Given the description of an element on the screen output the (x, y) to click on. 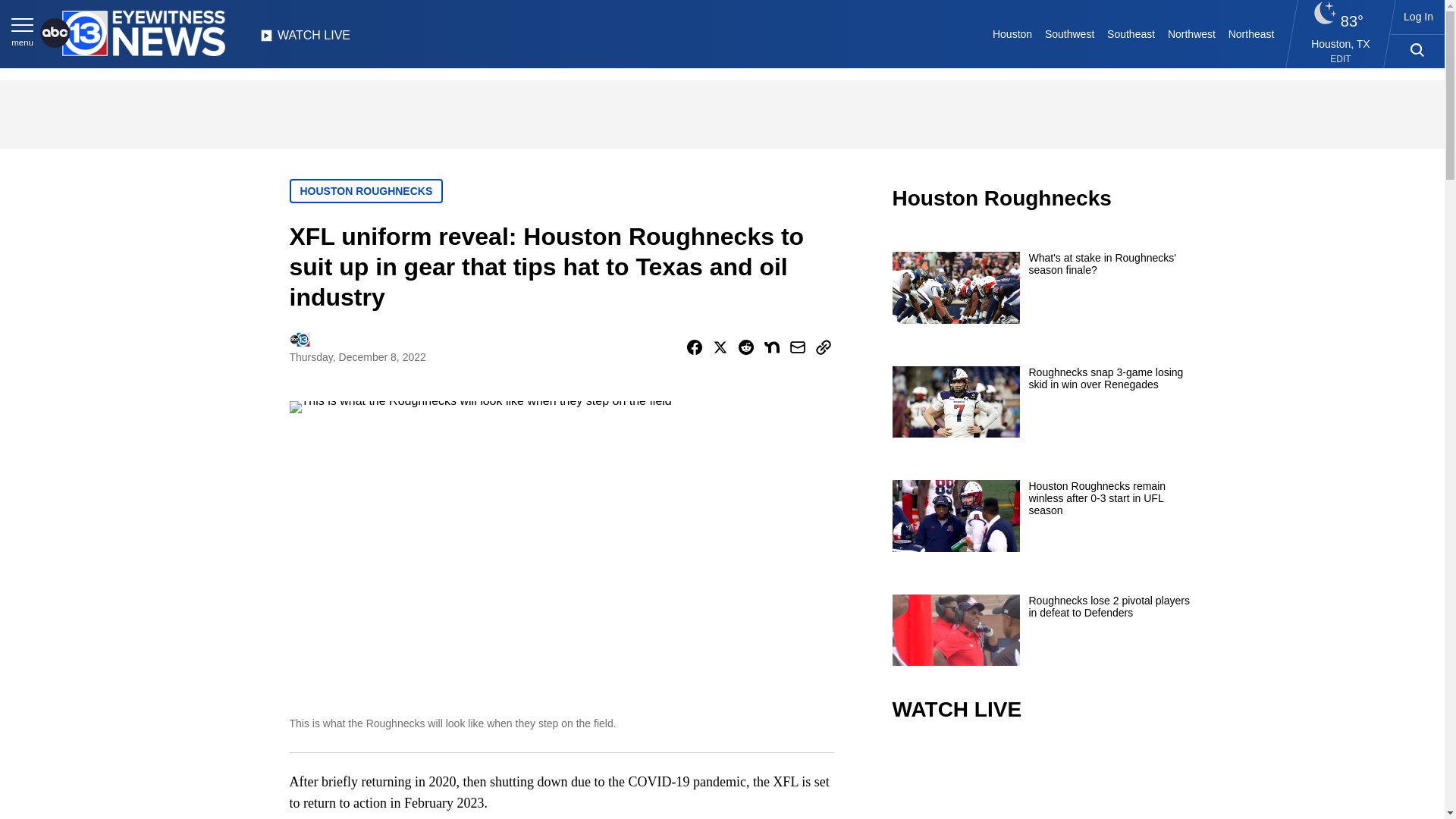
EDIT (1340, 59)
Northeast (1250, 33)
Southwest (1069, 33)
Southeast (1130, 33)
Houston, TX (1340, 43)
video.title (1043, 781)
Houston (1013, 33)
Northwest (1192, 33)
WATCH LIVE (305, 39)
